Given the description of an element on the screen output the (x, y) to click on. 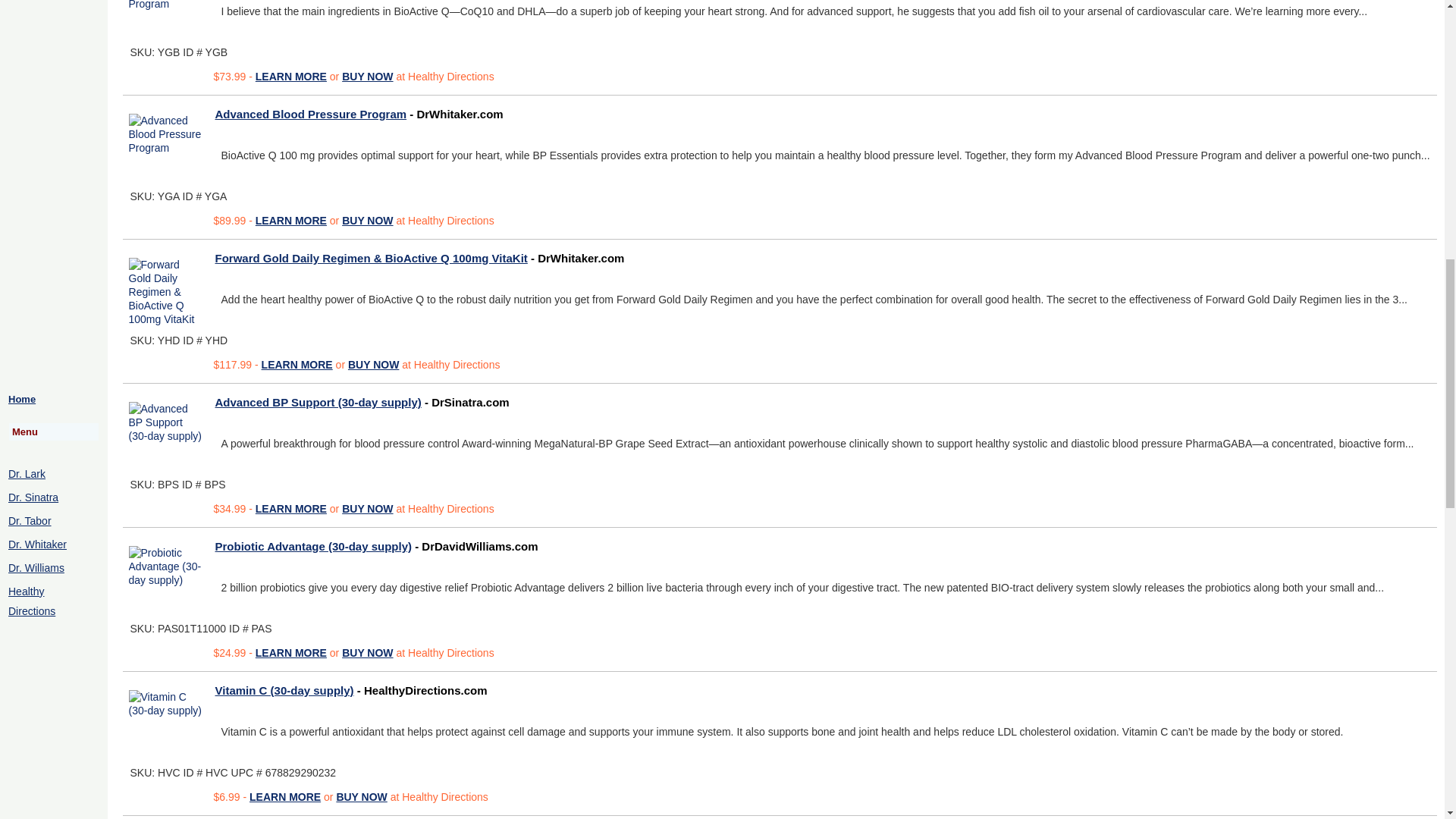
Advanced Blood Pressure Program (166, 133)
Healthy Directions (31, 601)
BUY NOW (367, 76)
Dr. Whitaker (37, 544)
Dr. Lark (26, 472)
Advanced Heart Health Program (166, 8)
Dr. Sinatra (33, 497)
Dr. Williams (36, 567)
LEARN MORE (291, 76)
Home (21, 398)
